Given the description of an element on the screen output the (x, y) to click on. 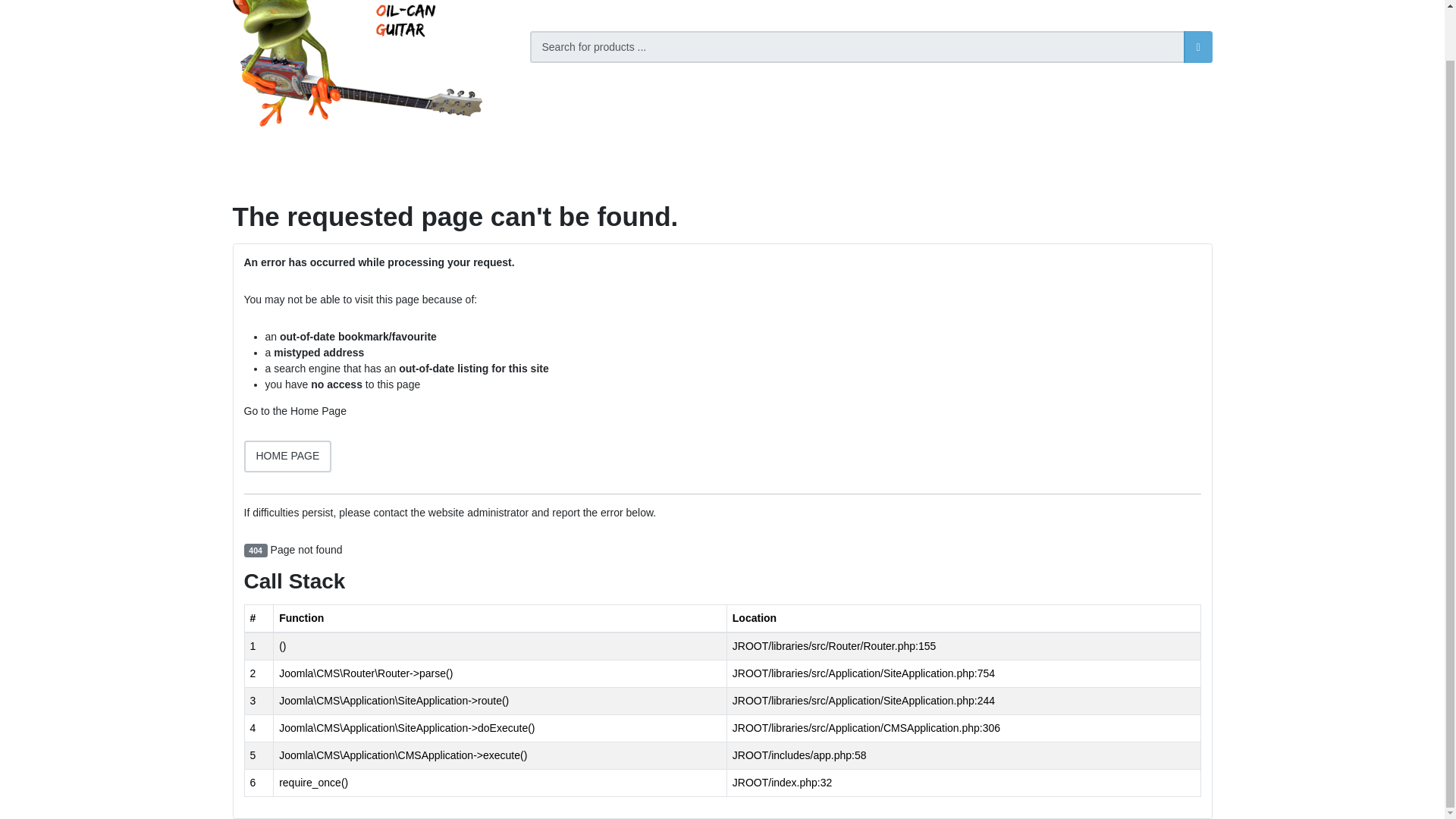
HOME PAGE (287, 456)
